Given the description of an element on the screen output the (x, y) to click on. 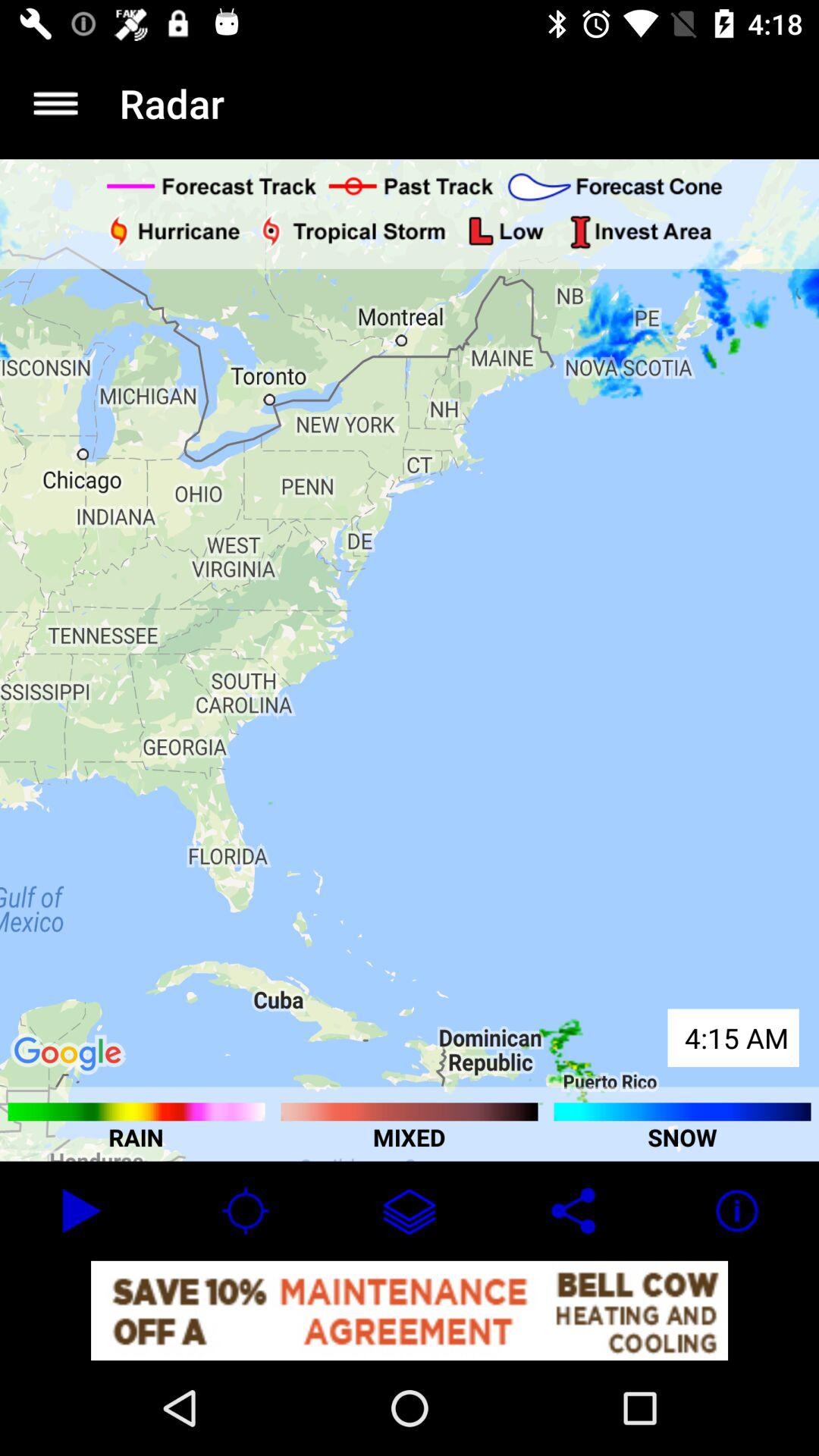
open menu (55, 103)
